Given the description of an element on the screen output the (x, y) to click on. 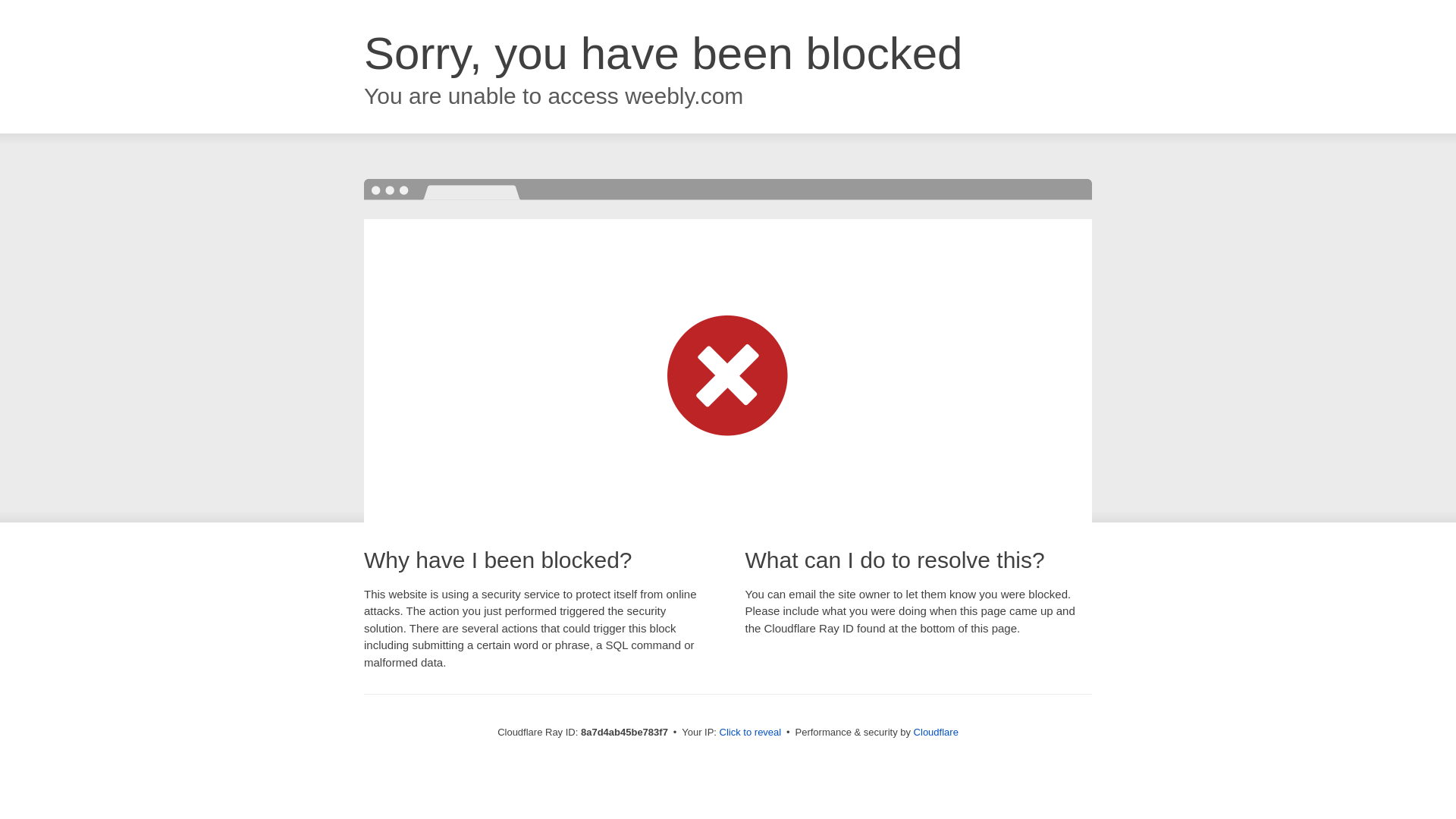
Cloudflare (936, 731)
Click to reveal (750, 732)
